Given the description of an element on the screen output the (x, y) to click on. 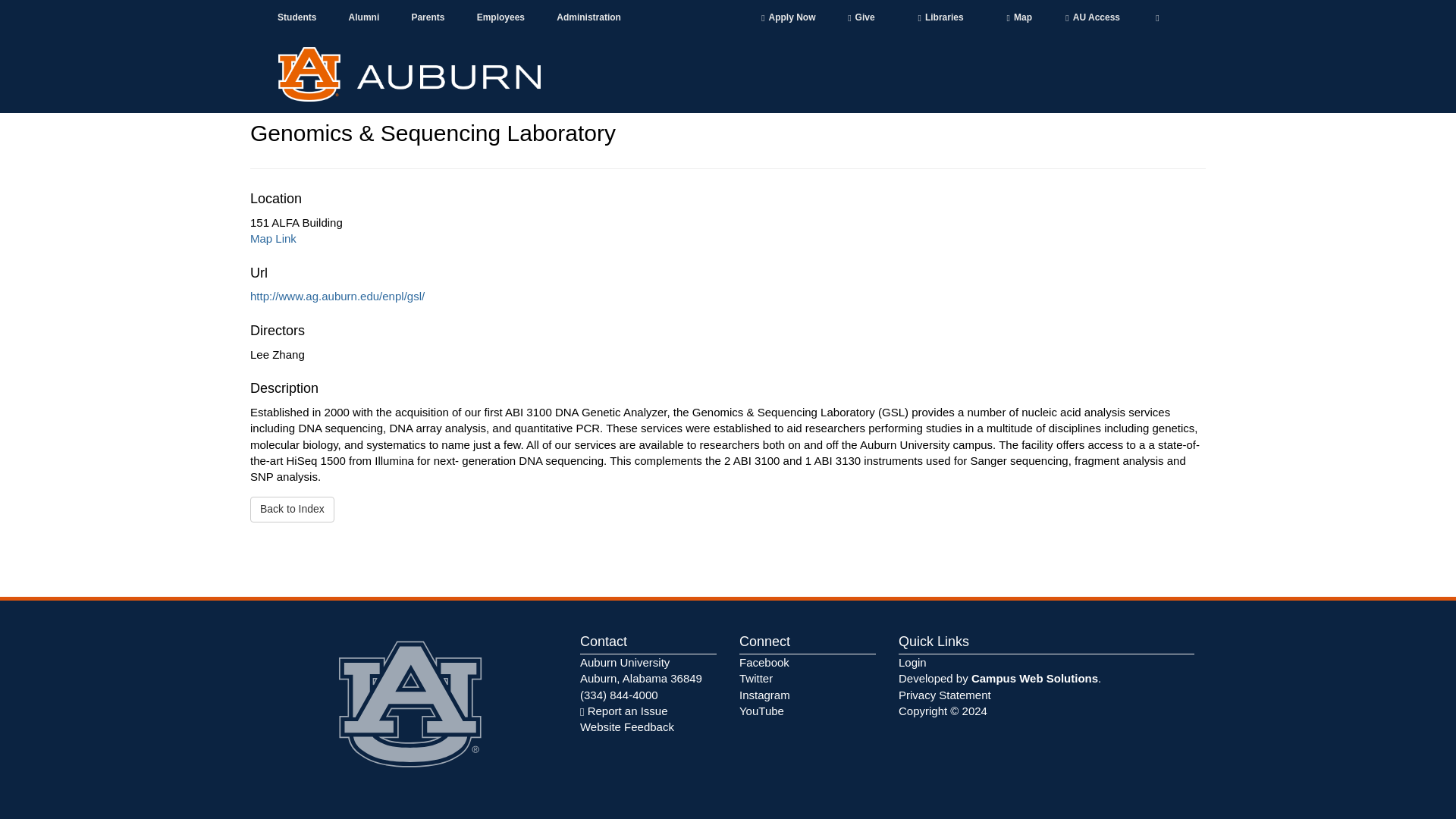
Toggle Search (1157, 17)
Libraries (940, 17)
Give (861, 17)
Twitter (756, 677)
Apply Now (789, 17)
Map Link (273, 237)
Employees (501, 17)
Report an Issue (623, 710)
Administration (588, 17)
Facebook (764, 662)
